Given the description of an element on the screen output the (x, y) to click on. 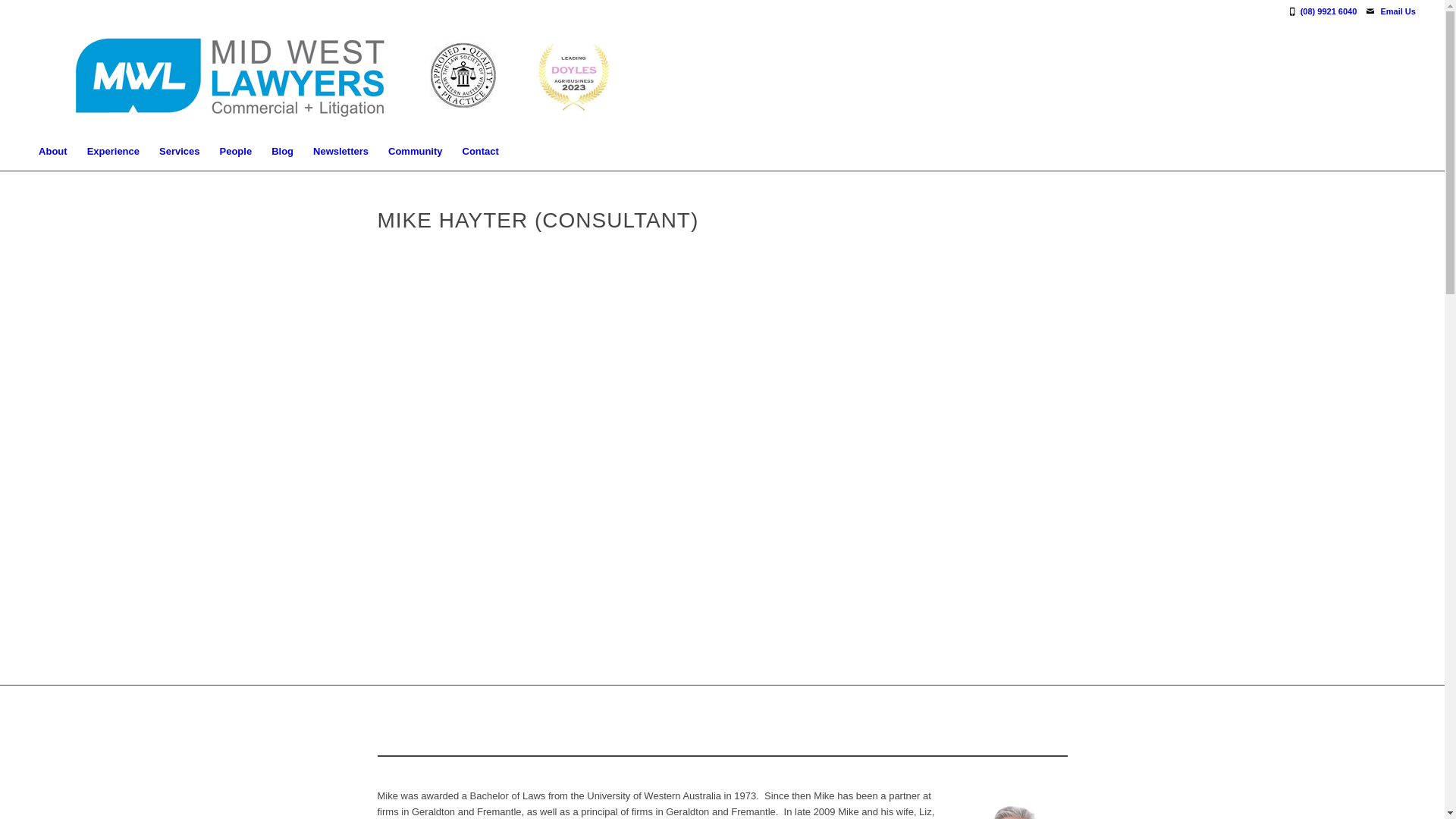
Experience Element type: text (113, 151)
Contact Element type: text (480, 151)
Blog Element type: text (282, 151)
Previous Element type: text (13, 462)
Newsletters Element type: text (340, 151)
People Element type: text (236, 151)
2 Element type: text (728, 665)
About Element type: text (52, 151)
(08) 9921 6040 Element type: text (1332, 10)
mwljun18 (1) Element type: hover (331, 77)
Email Us Element type: text (1397, 10)
Next Element type: text (1431, 462)
Community Element type: text (415, 151)
1 Element type: text (716, 665)
Services Element type: text (179, 151)
